Given the description of an element on the screen output the (x, y) to click on. 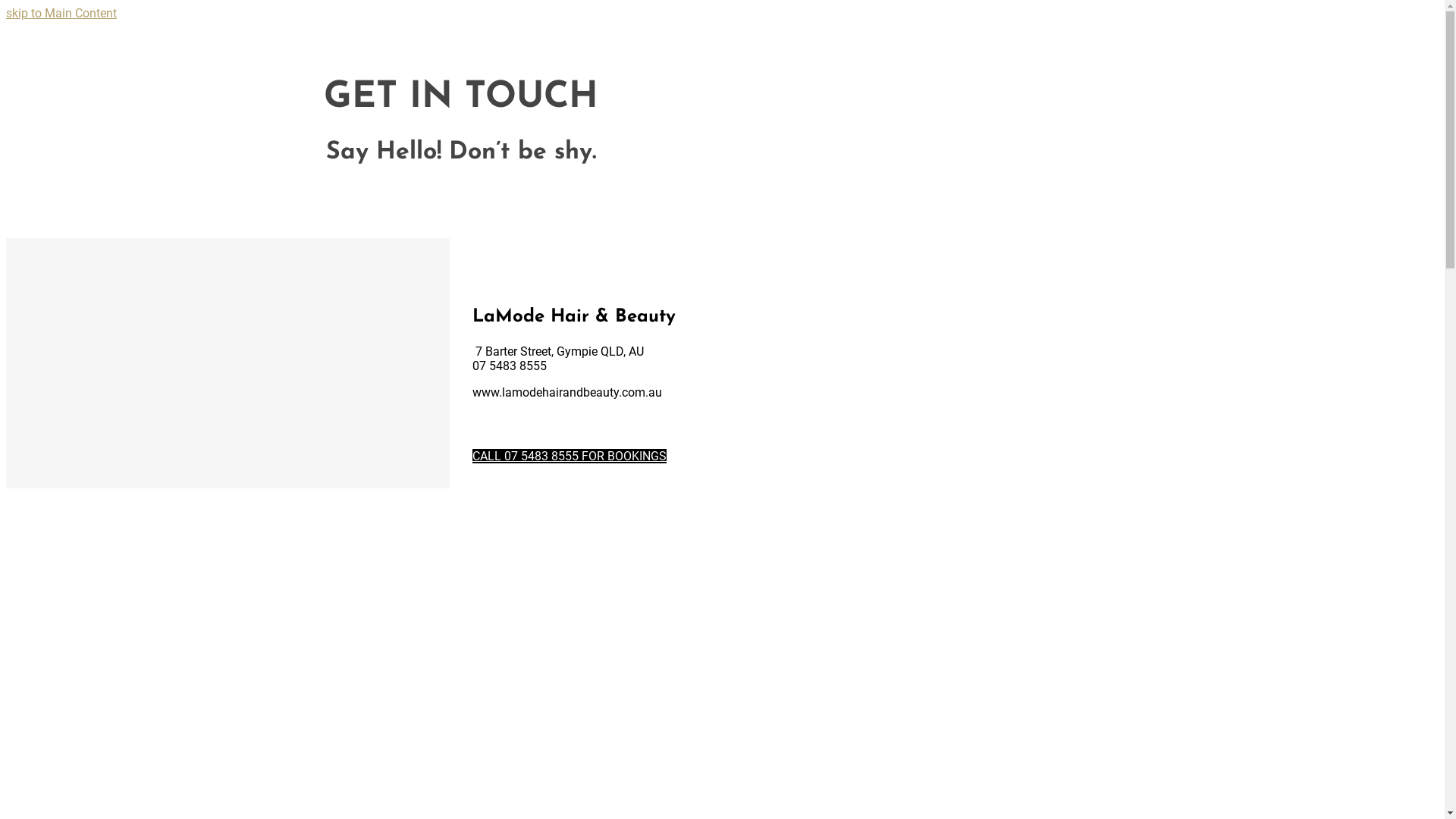
CALL 07 5483 8555 FOR BOOKINGS Element type: text (569, 455)
skip to Main Content Element type: text (61, 13)
